Given the description of an element on the screen output the (x, y) to click on. 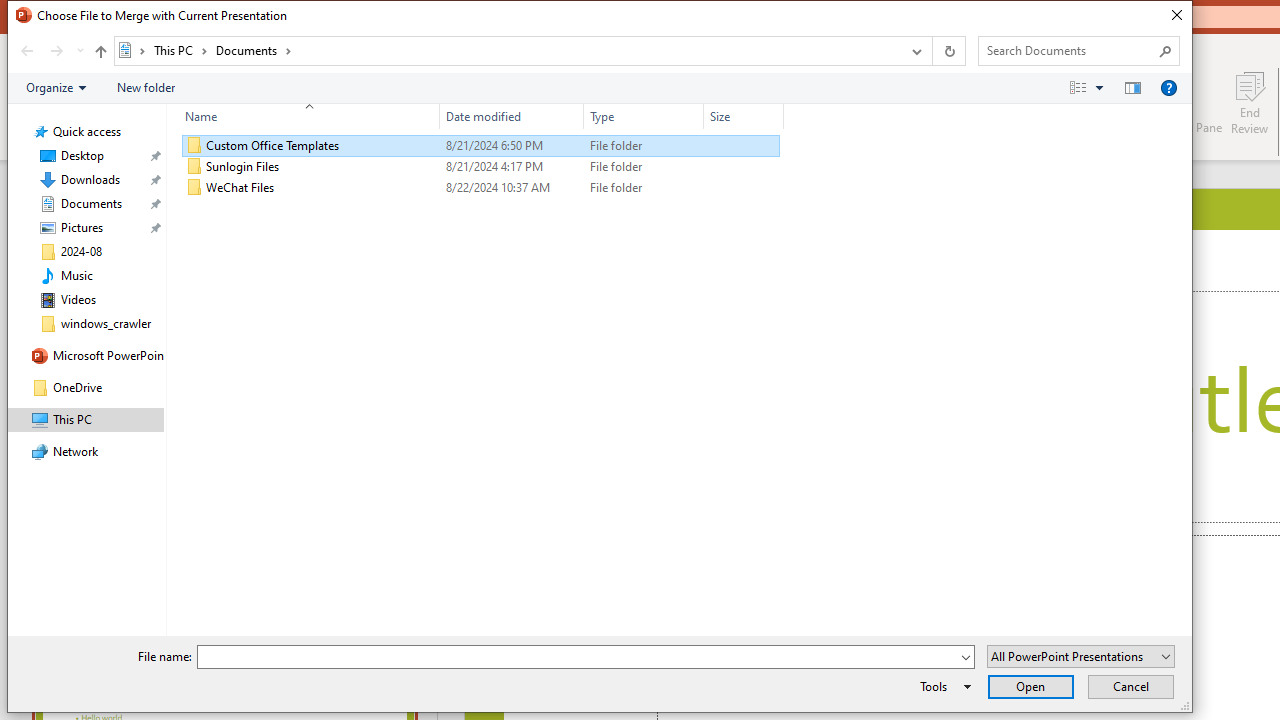
Size (743, 187)
End Review (1249, 102)
Address band toolbar (931, 51)
Documents (253, 50)
New folder (145, 87)
Name (321, 187)
File name: (586, 656)
All locations (132, 50)
Date modified (511, 115)
File name: (577, 657)
Tools (942, 686)
Back (Alt + Left Arrow) (26, 51)
